Given the description of an element on the screen output the (x, y) to click on. 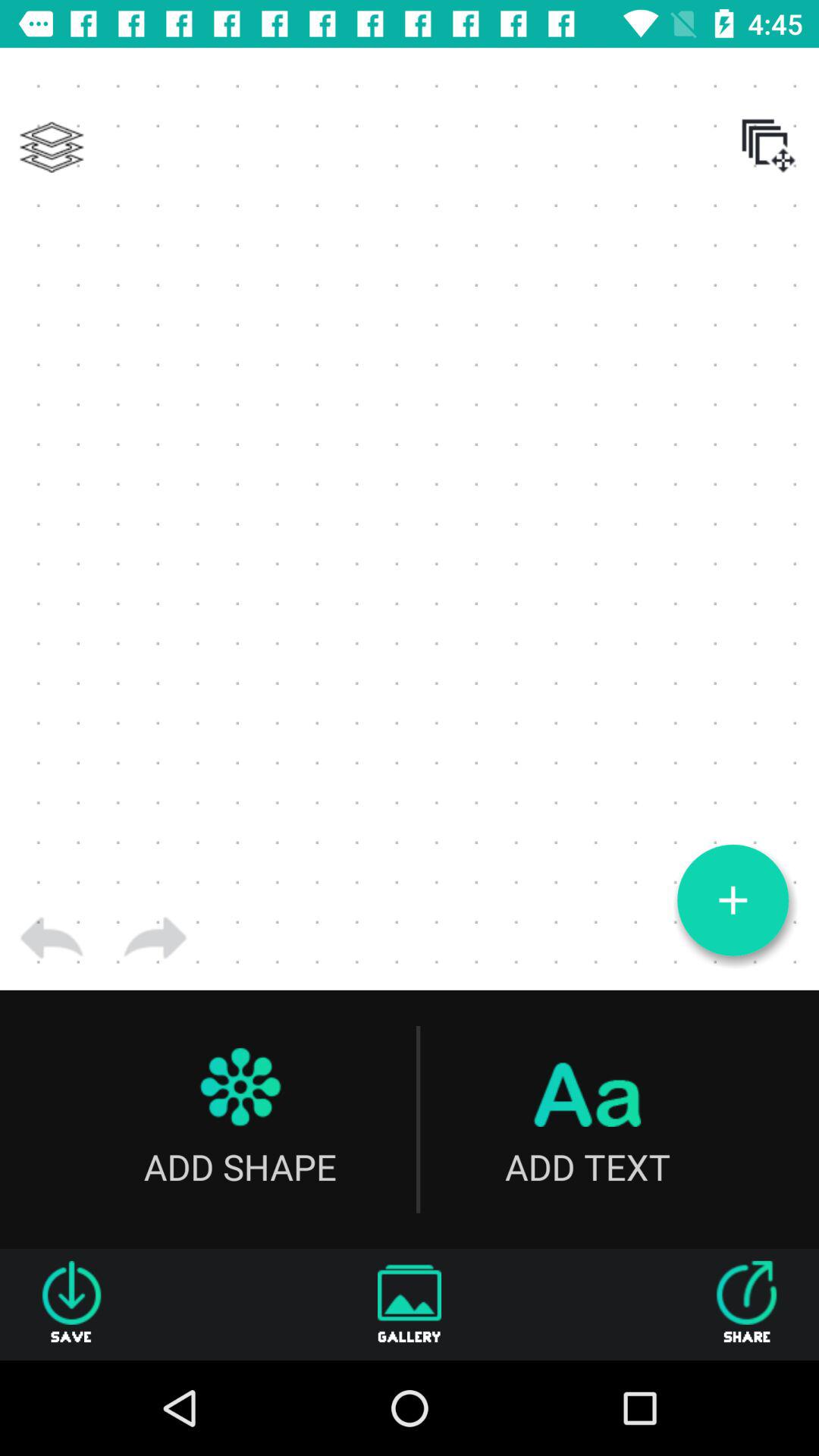
click save item (71, 1304)
